Given the description of an element on the screen output the (x, y) to click on. 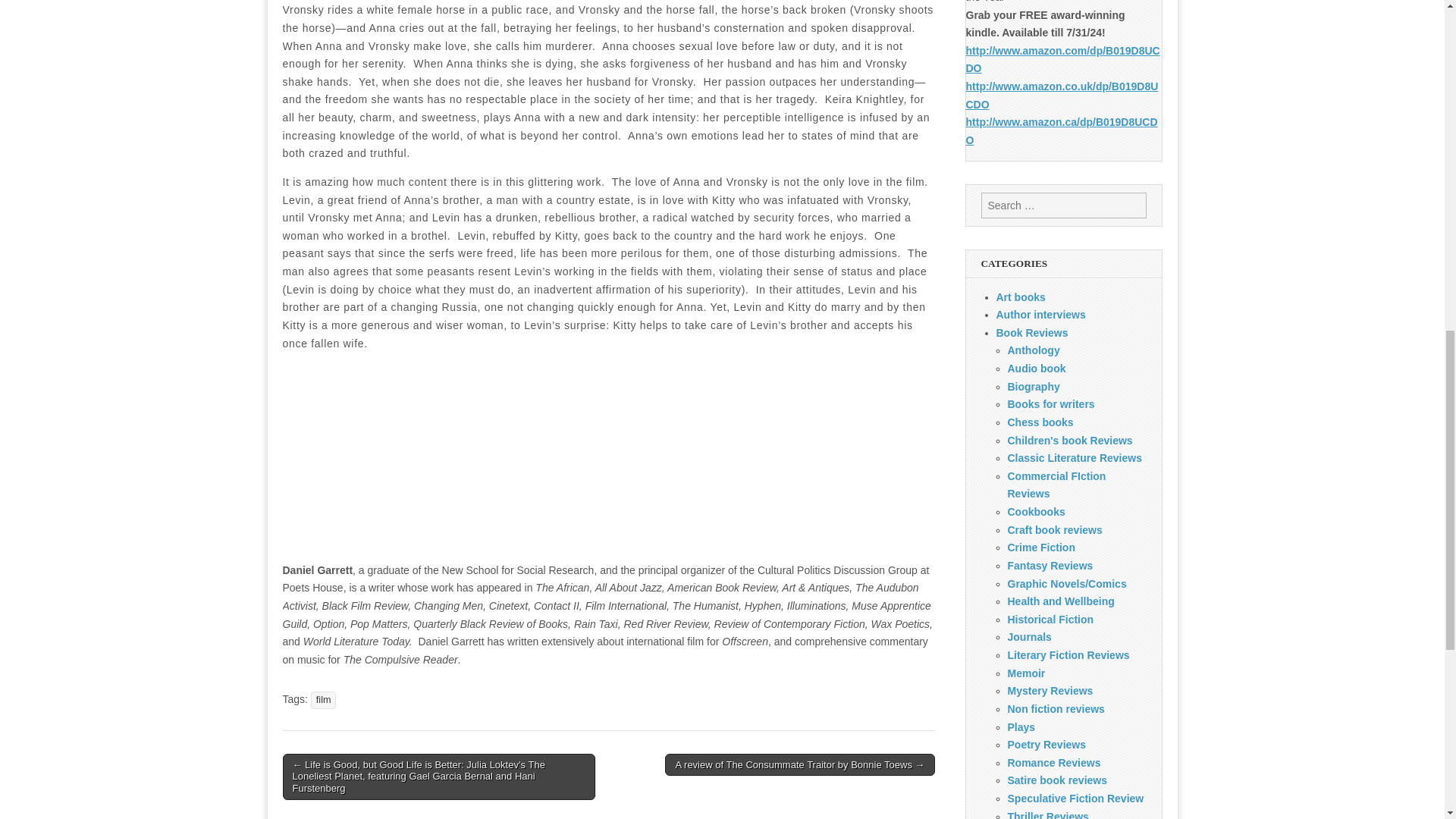
Health and Wellbeing (1060, 601)
Journals (1029, 636)
Author interviews (1040, 314)
Biography (1033, 386)
Chess books (1040, 422)
Anthology (1033, 349)
Audio book (1036, 368)
Commercial FIction Reviews (1056, 485)
Art books (1020, 297)
Book Reviews (1031, 332)
Children's book Reviews (1069, 440)
film (323, 700)
Books for writers (1050, 404)
Classic Literature Reviews (1074, 458)
Crime Fiction (1040, 547)
